Given the description of an element on the screen output the (x, y) to click on. 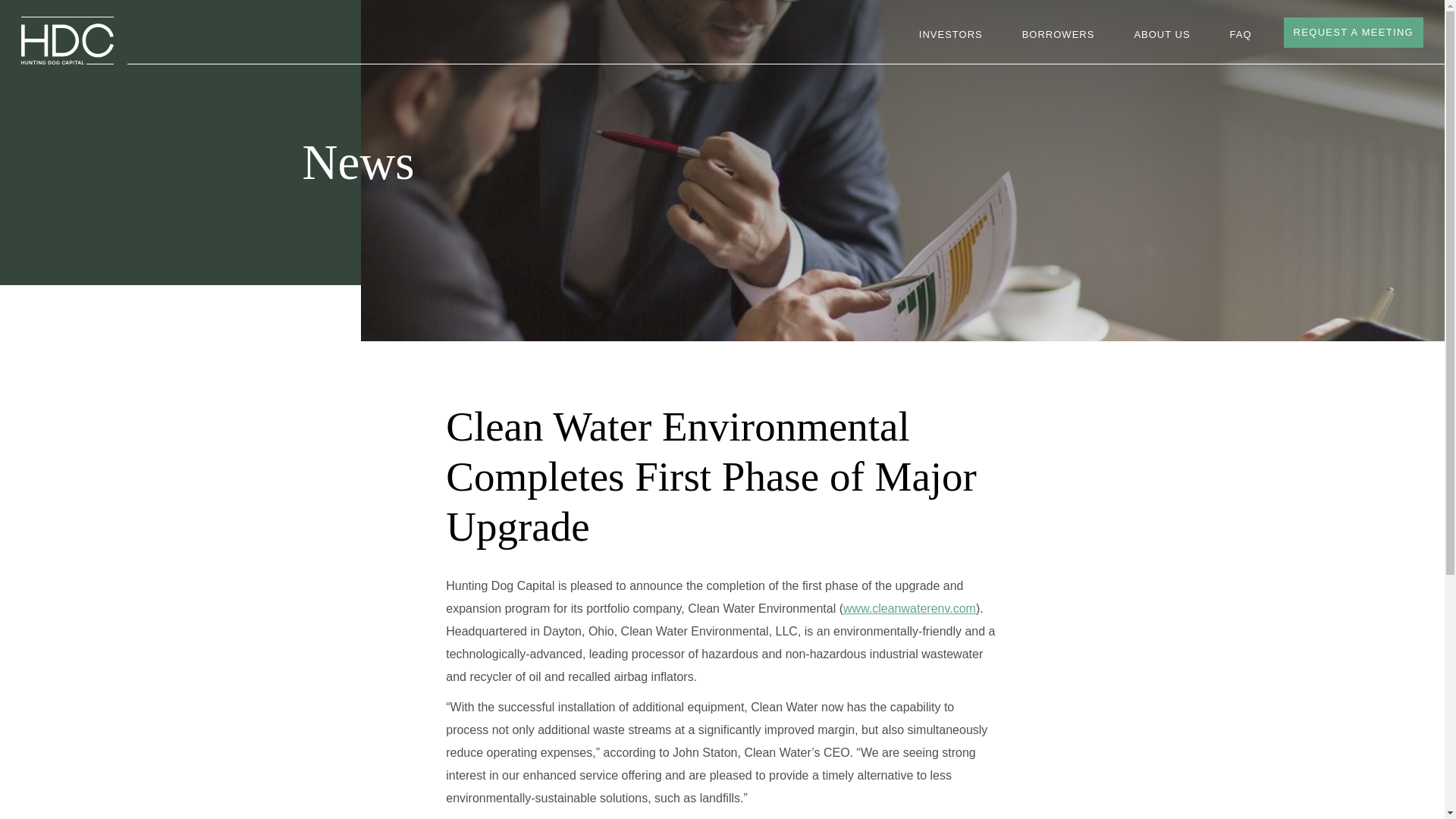
INVESTORS (950, 34)
www.cleanwaterenv.com (909, 608)
ABOUT US (1161, 34)
REQUEST A MEETING (1353, 32)
BORROWERS (1058, 34)
